Given the description of an element on the screen output the (x, y) to click on. 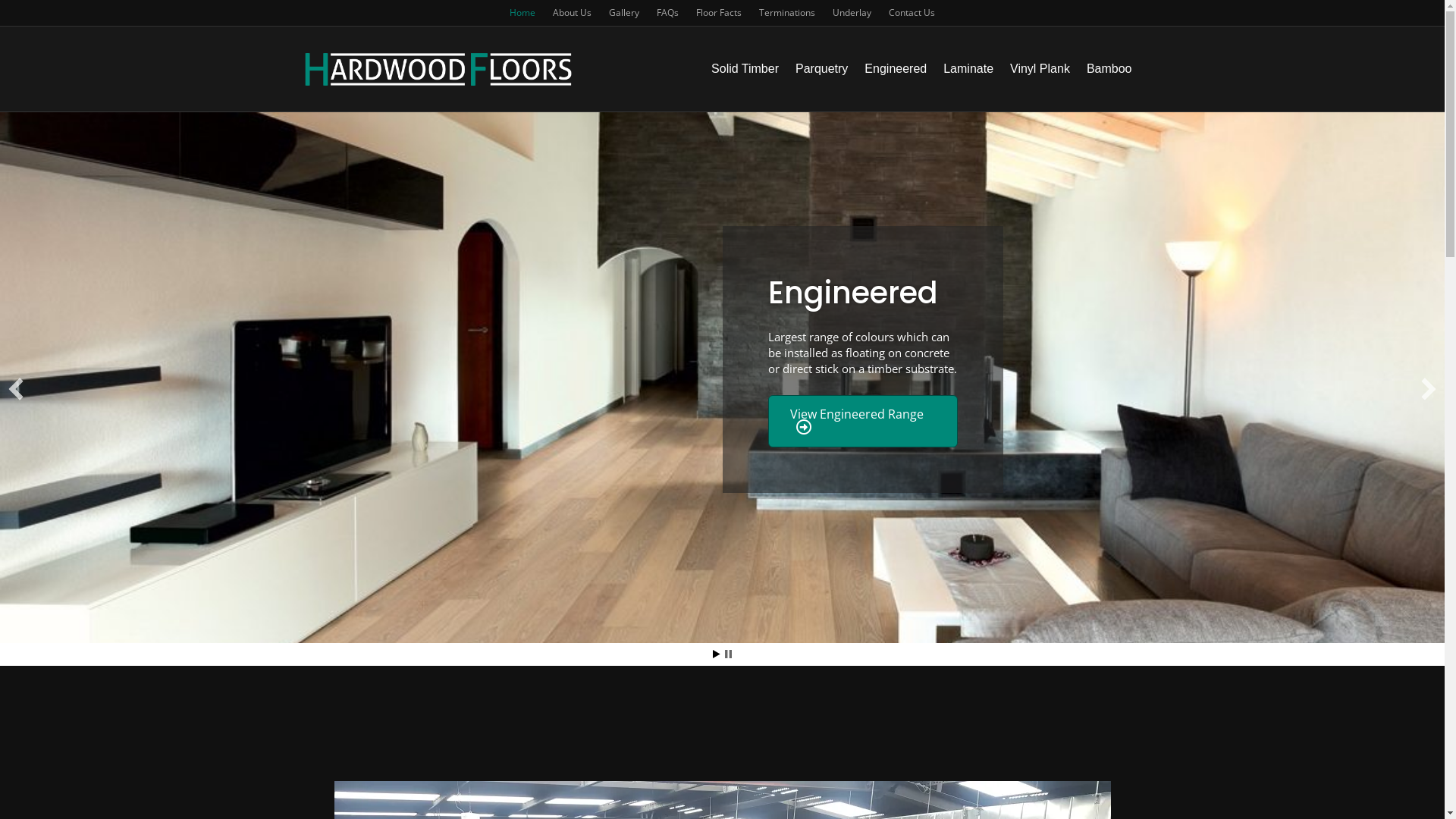
View Engineered Range Element type: text (862, 421)
About Us Element type: text (572, 12)
FAQs Element type: text (667, 12)
Contact Us Element type: text (911, 12)
Home Element type: text (522, 12)
Start Element type: text (716, 653)
Floor Facts Element type: text (718, 12)
Underlay Element type: text (851, 12)
Terminations Element type: text (786, 12)
Gallery Element type: text (623, 12)
Solid Timber Element type: text (744, 68)
Bamboo Element type: text (1109, 68)
Engineered Element type: text (895, 68)
Vinyl Plank Element type: text (1039, 68)
Laminate Element type: text (968, 68)
Parquetry Element type: text (821, 68)
Stop Element type: text (727, 653)
